Given the description of an element on the screen output the (x, y) to click on. 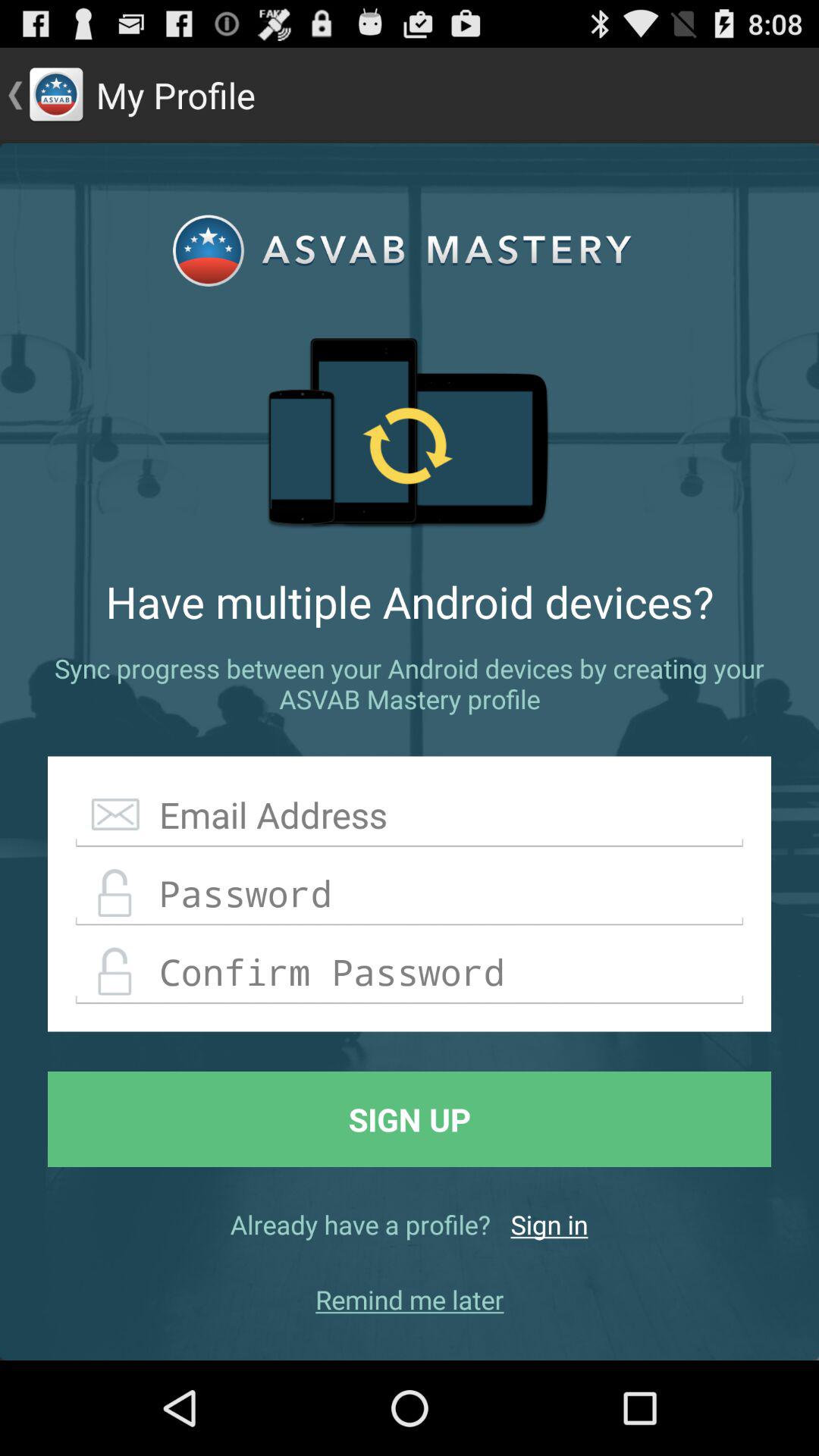
launch remind me later icon (409, 1299)
